Given the description of an element on the screen output the (x, y) to click on. 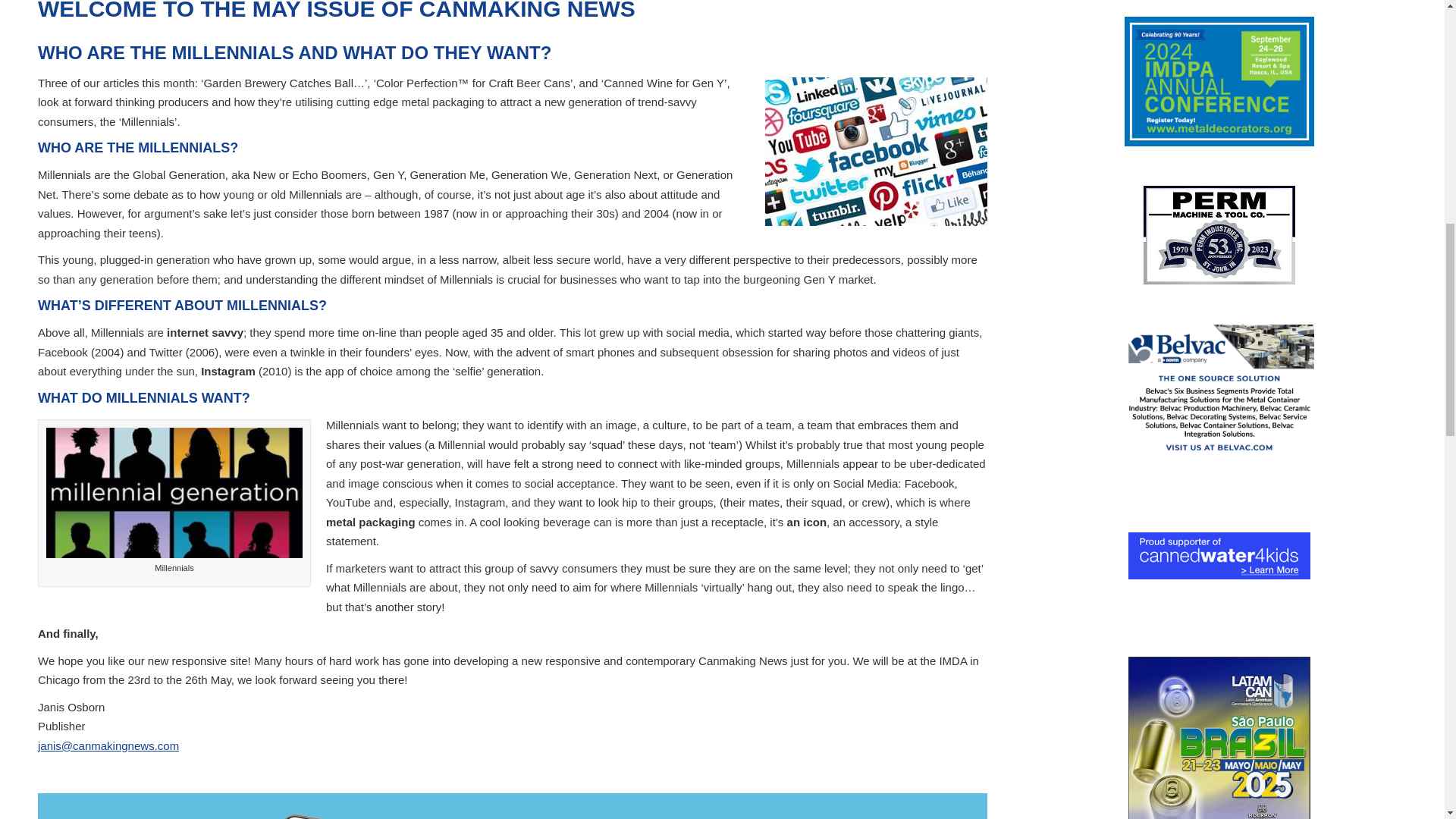
Canmaking News Mobile No Shadow 300 (271, 813)
